Given the description of an element on the screen output the (x, y) to click on. 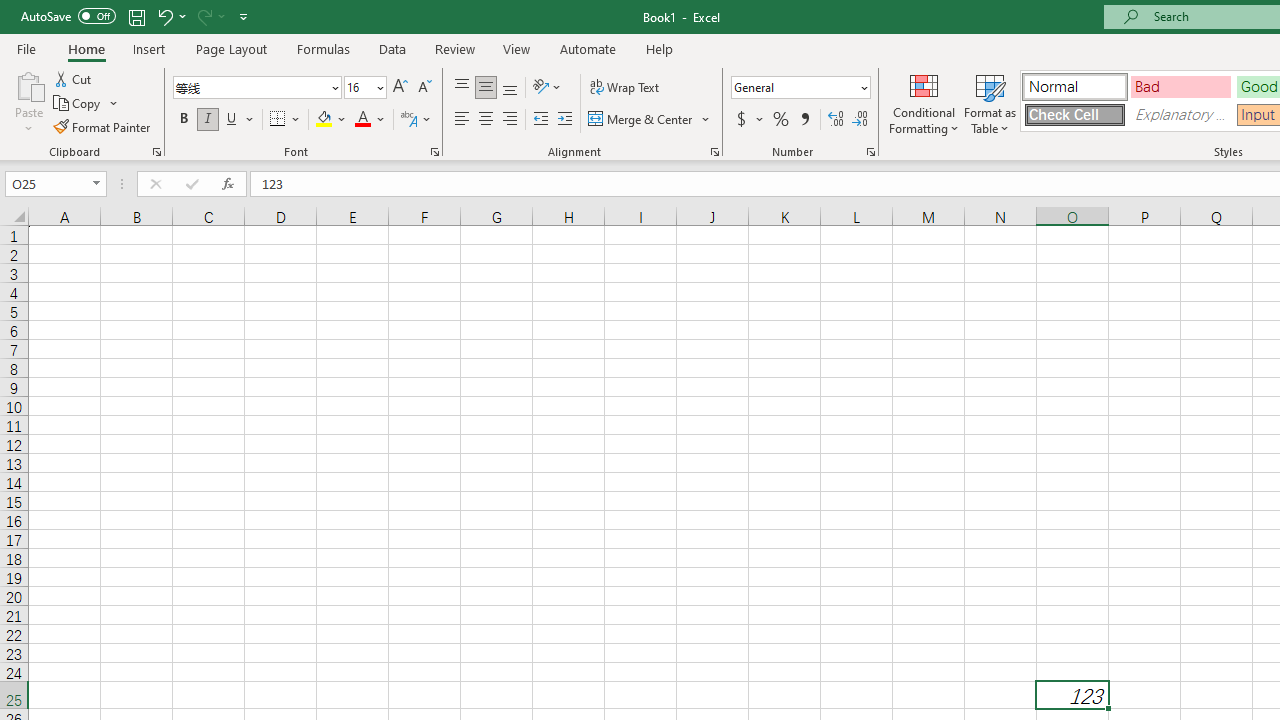
Italic (207, 119)
Decrease Indent (540, 119)
Cut (73, 78)
Number Format (794, 87)
Align Left (461, 119)
Font Color RGB(255, 0, 0) (362, 119)
Underline (232, 119)
Decrease Decimal (859, 119)
Top Align (461, 87)
Merge & Center (649, 119)
